Given the description of an element on the screen output the (x, y) to click on. 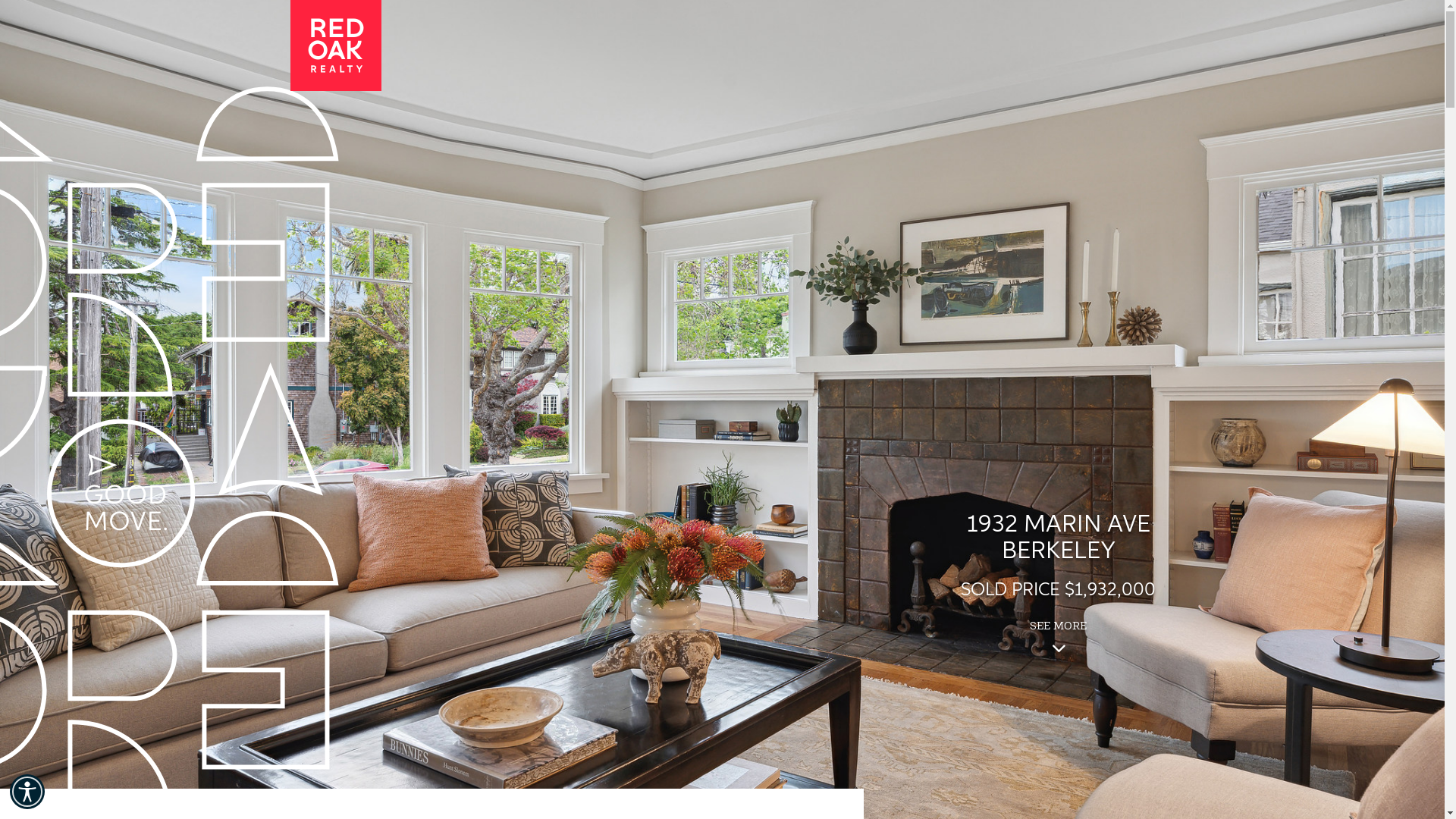
Red Oak Realty Element type: hover (334, 44)
SEE MORE Element type: text (1057, 626)
Red Oak Realty Element type: hover (334, 45)
